Given the description of an element on the screen output the (x, y) to click on. 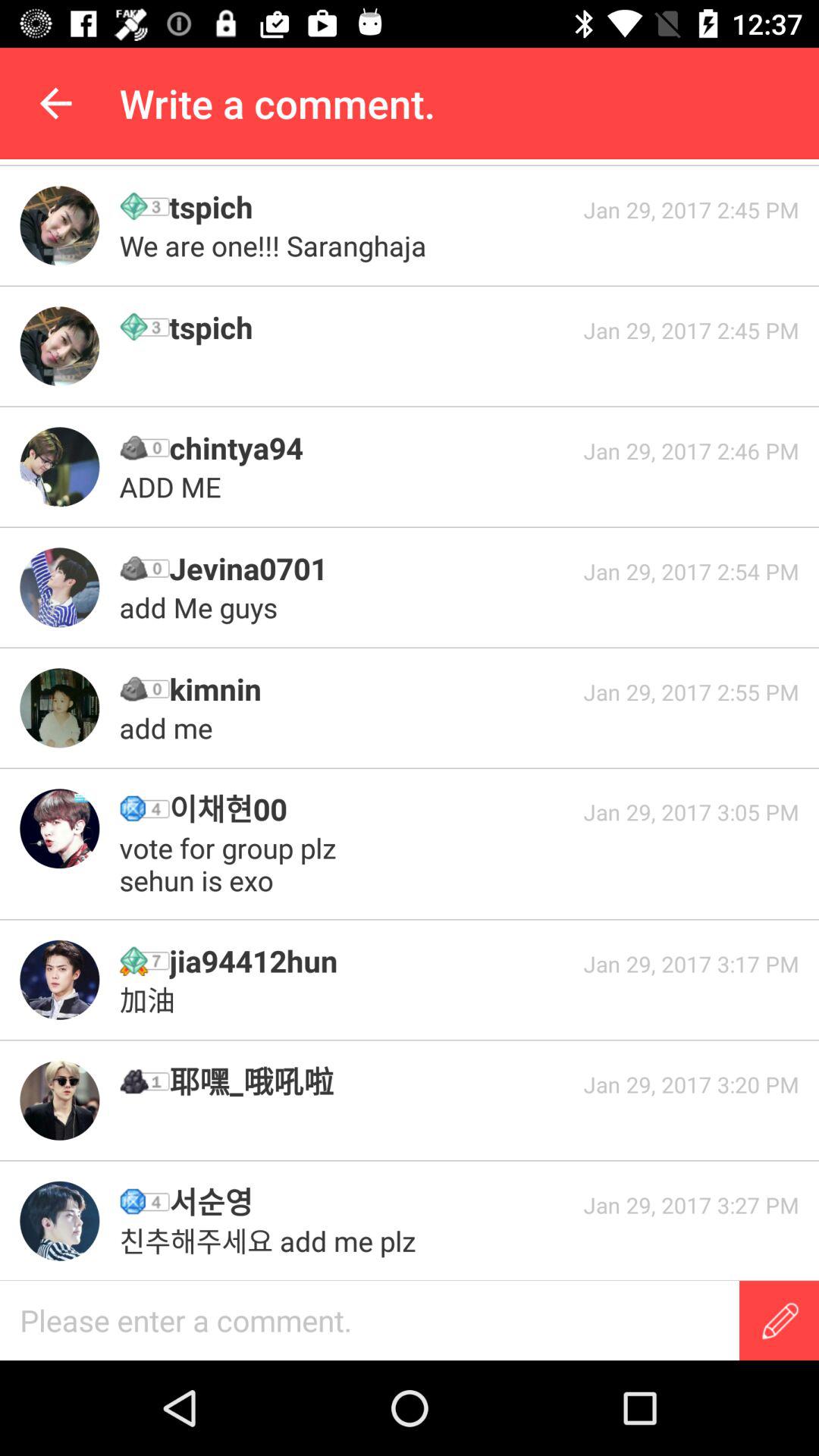
press the app to the left of the write a comment. app (55, 103)
